Given the description of an element on the screen output the (x, y) to click on. 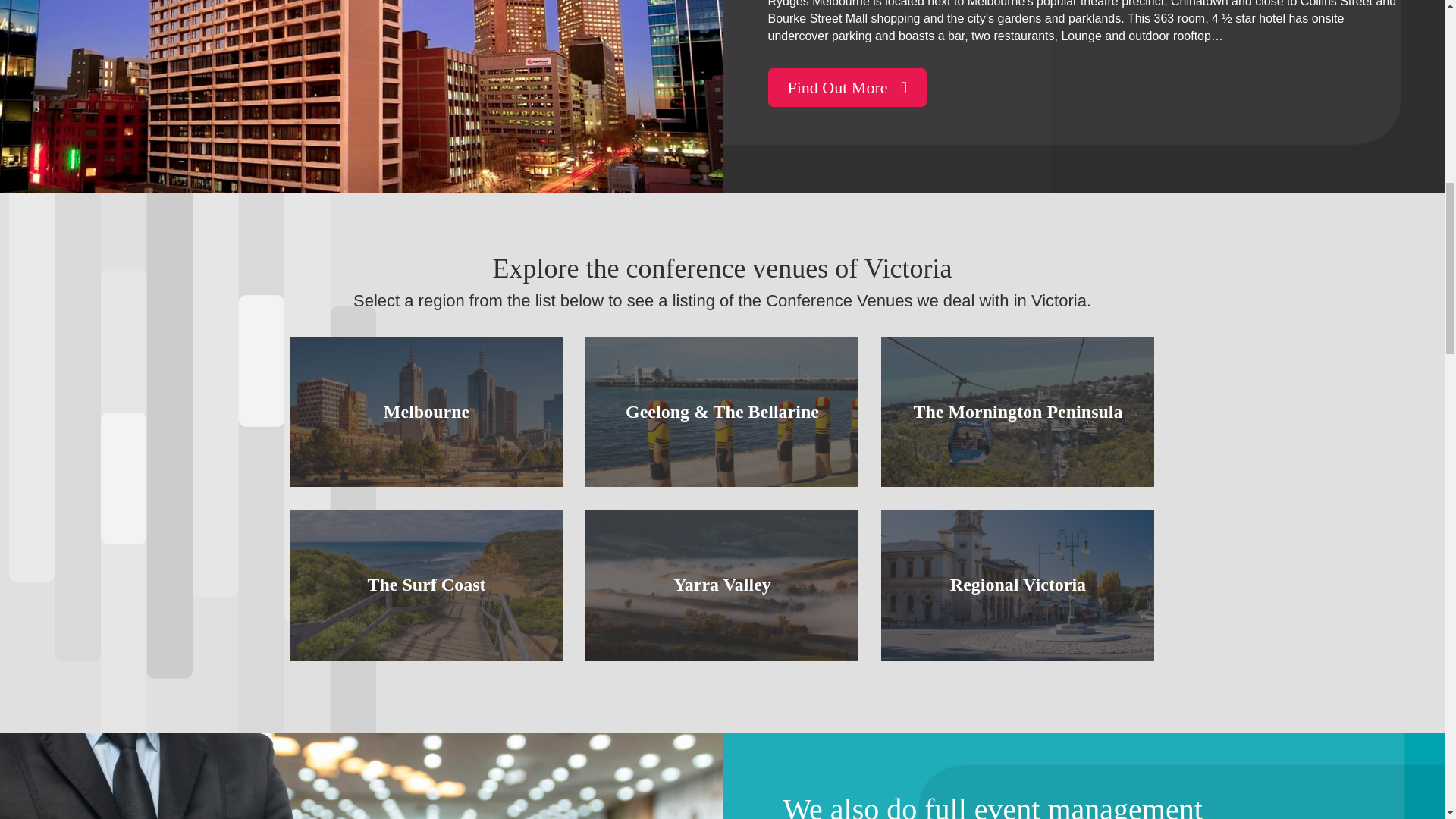
Melbourne (425, 411)
Regional Victoria (1017, 584)
The Mornington Peninsula (1017, 411)
The Surf Coast (425, 584)
Find Out More (846, 87)
Yarra Valley (722, 584)
